Given the description of an element on the screen output the (x, y) to click on. 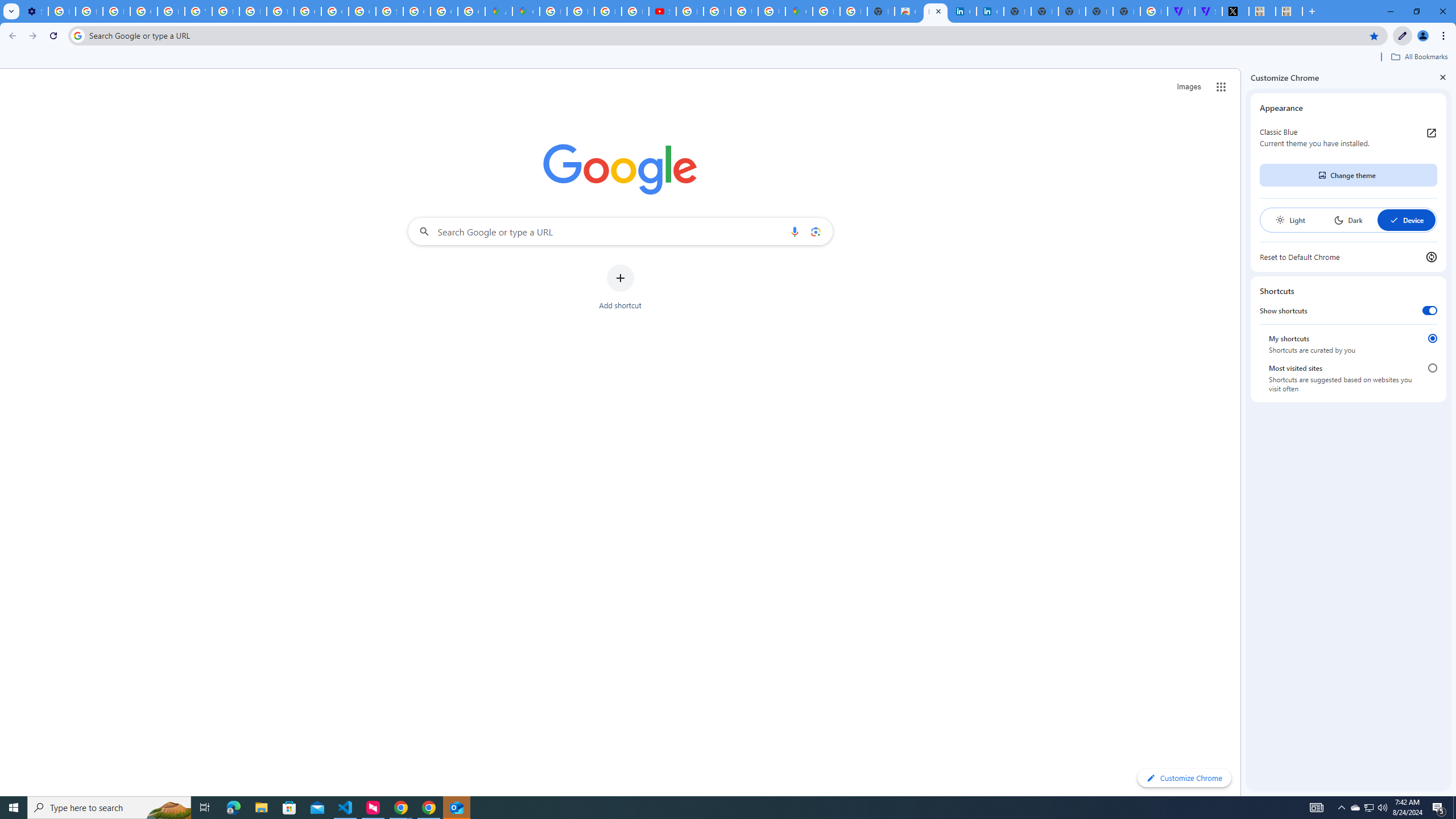
Most visited sites (1432, 367)
New Tab (1126, 11)
How Chrome protects your passwords - Google Chrome Help (690, 11)
Reset to Default Chrome (1347, 256)
Cookie Policy | LinkedIn (962, 11)
AutomationID: baseSvg (1394, 219)
Privacy Help Center - Policies Help (170, 11)
Privacy Help Center - Policies Help (253, 11)
Dark (1348, 219)
Learn how to find your photos - Google Photos Help (88, 11)
MILEY CYRUS. (1289, 11)
